Given the description of an element on the screen output the (x, y) to click on. 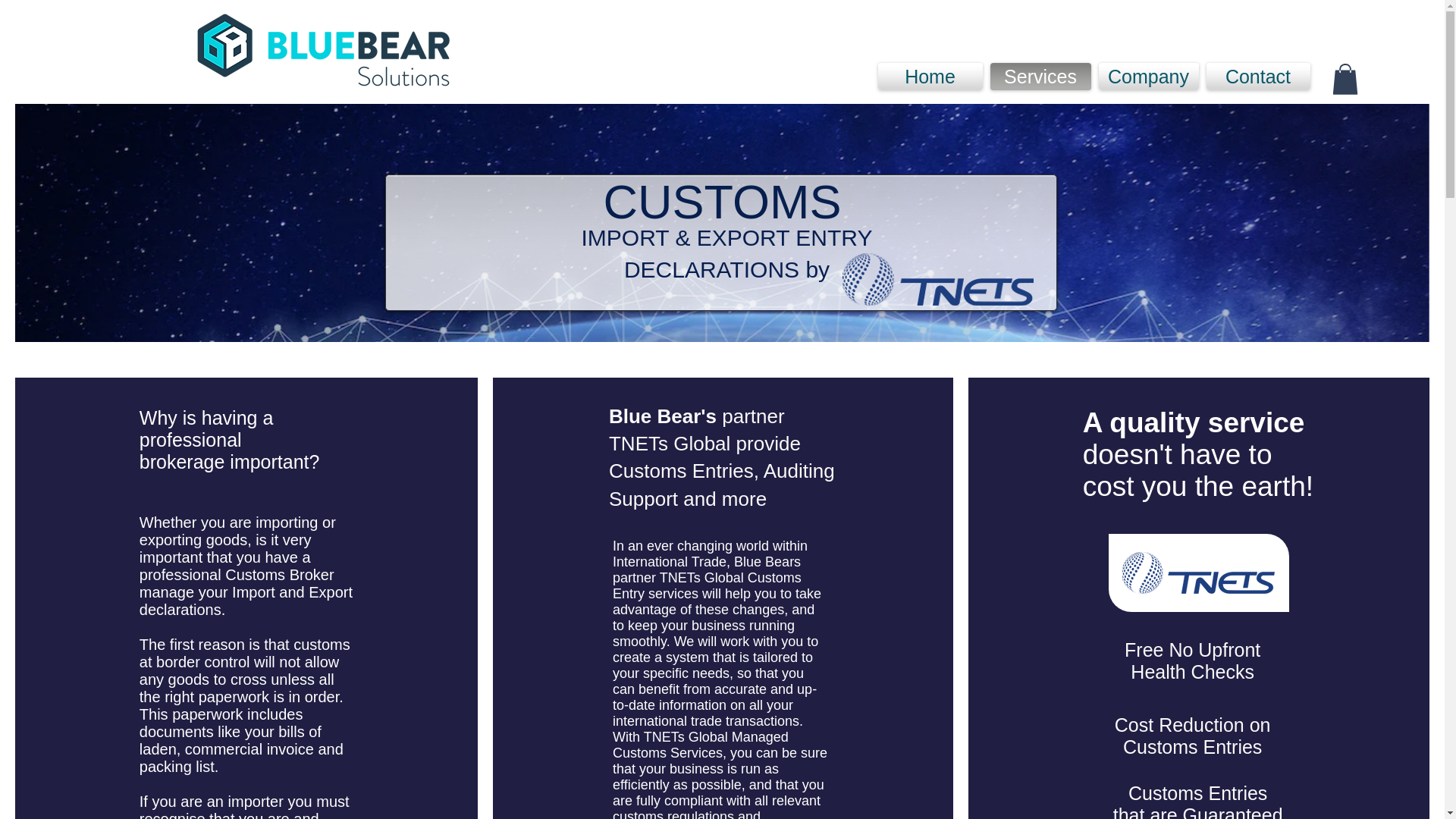
Contact (1256, 76)
Services (1039, 76)
Company (1148, 76)
Home (932, 76)
